Given the description of an element on the screen output the (x, y) to click on. 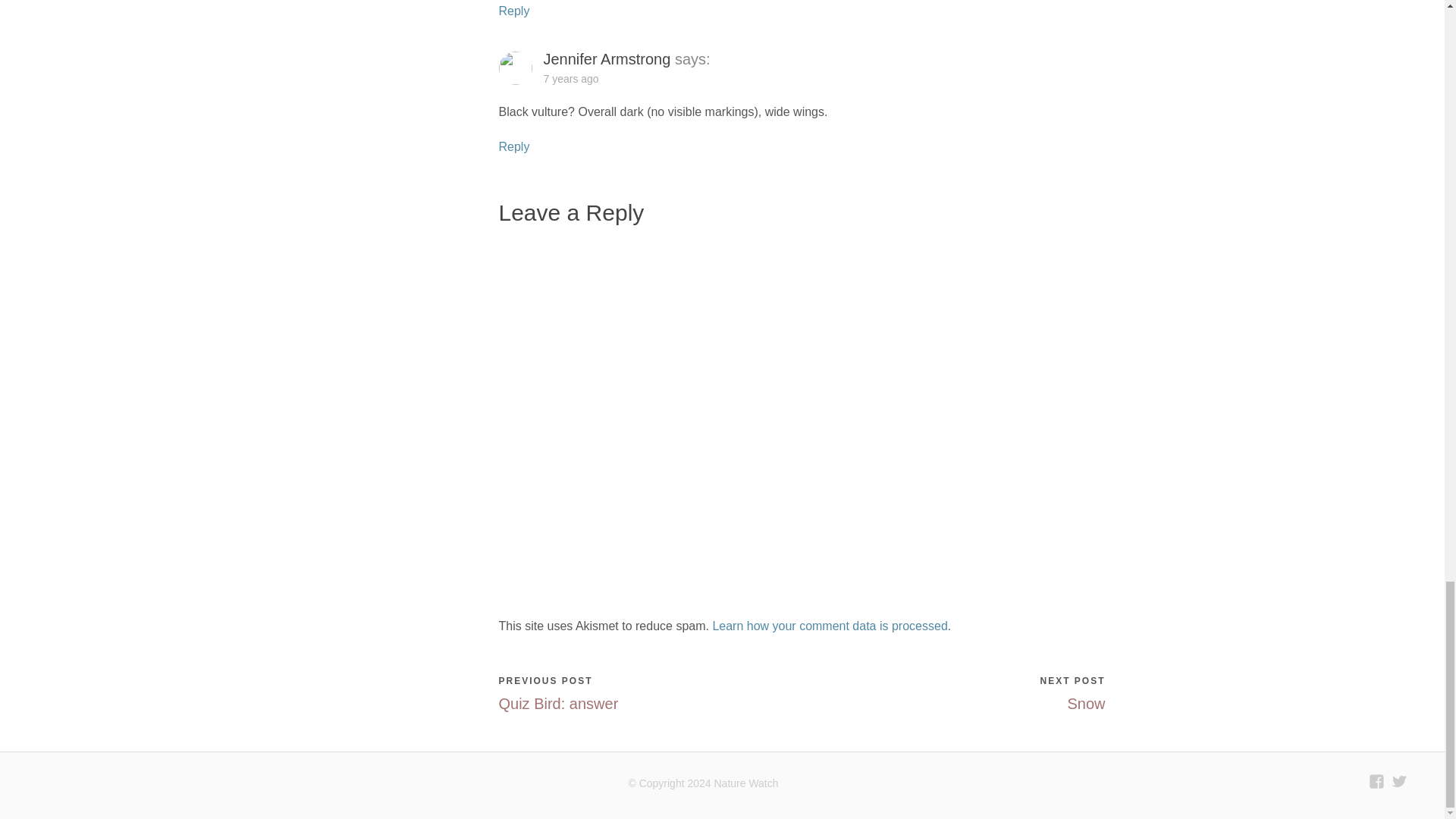
Snow (1086, 703)
Quiz Bird: answer (558, 703)
Learn how your comment data is processed (829, 625)
Reply (514, 10)
7 years ago (572, 78)
Reply (514, 146)
